Given the description of an element on the screen output the (x, y) to click on. 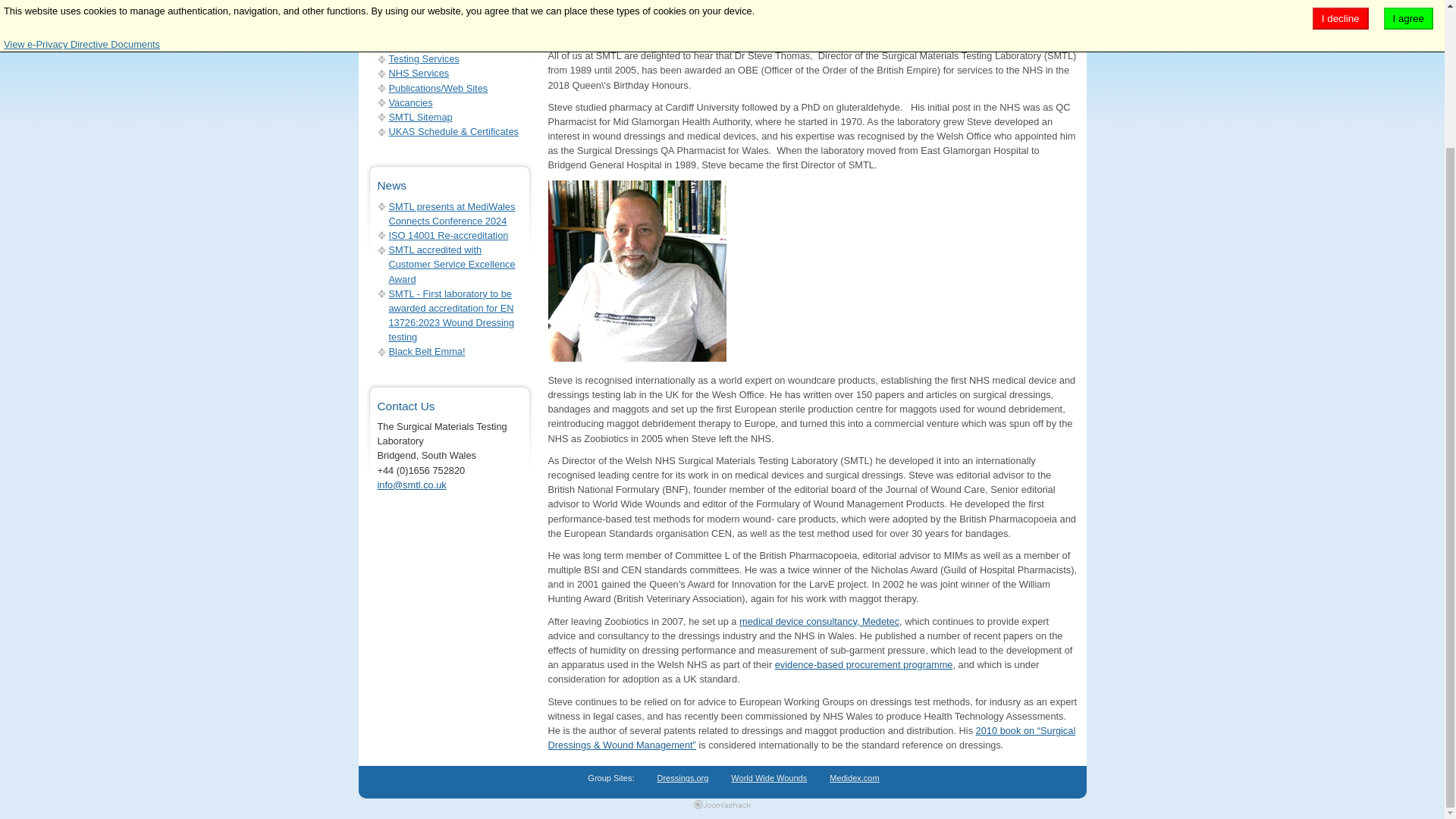
Blog (397, 43)
NHS Services (418, 72)
Black Belt Emma! (426, 351)
World Wide Wounds (768, 777)
Contact Us (411, 30)
SMTL accredited with Customer Service Excellence Award (451, 264)
Contact Us (406, 405)
Dressings.org (681, 777)
Medidex.com (854, 777)
Testing Services (423, 58)
ISO 14001 Re-accreditation (448, 235)
Featured Articles (424, 15)
About SMTL (415, 2)
Vacancies (410, 102)
